Given the description of an element on the screen output the (x, y) to click on. 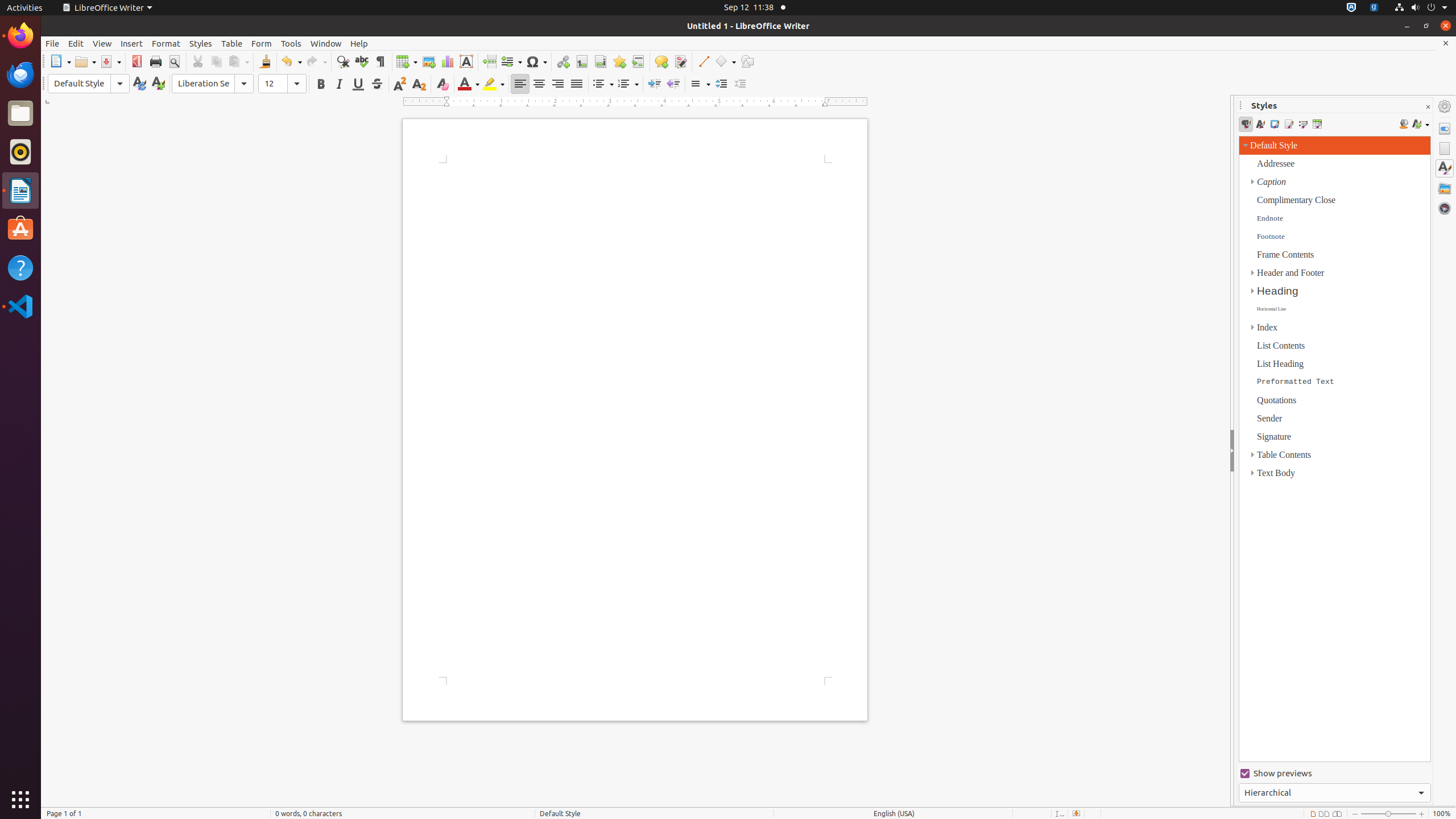
Font Size Element type: combo-box (282, 83)
Page Break Element type: push-button (489, 61)
Show previews Element type: check-box (1334, 773)
Italic Element type: toggle-button (338, 83)
Highlight Color Element type: push-button (493, 83)
